Given the description of an element on the screen output the (x, y) to click on. 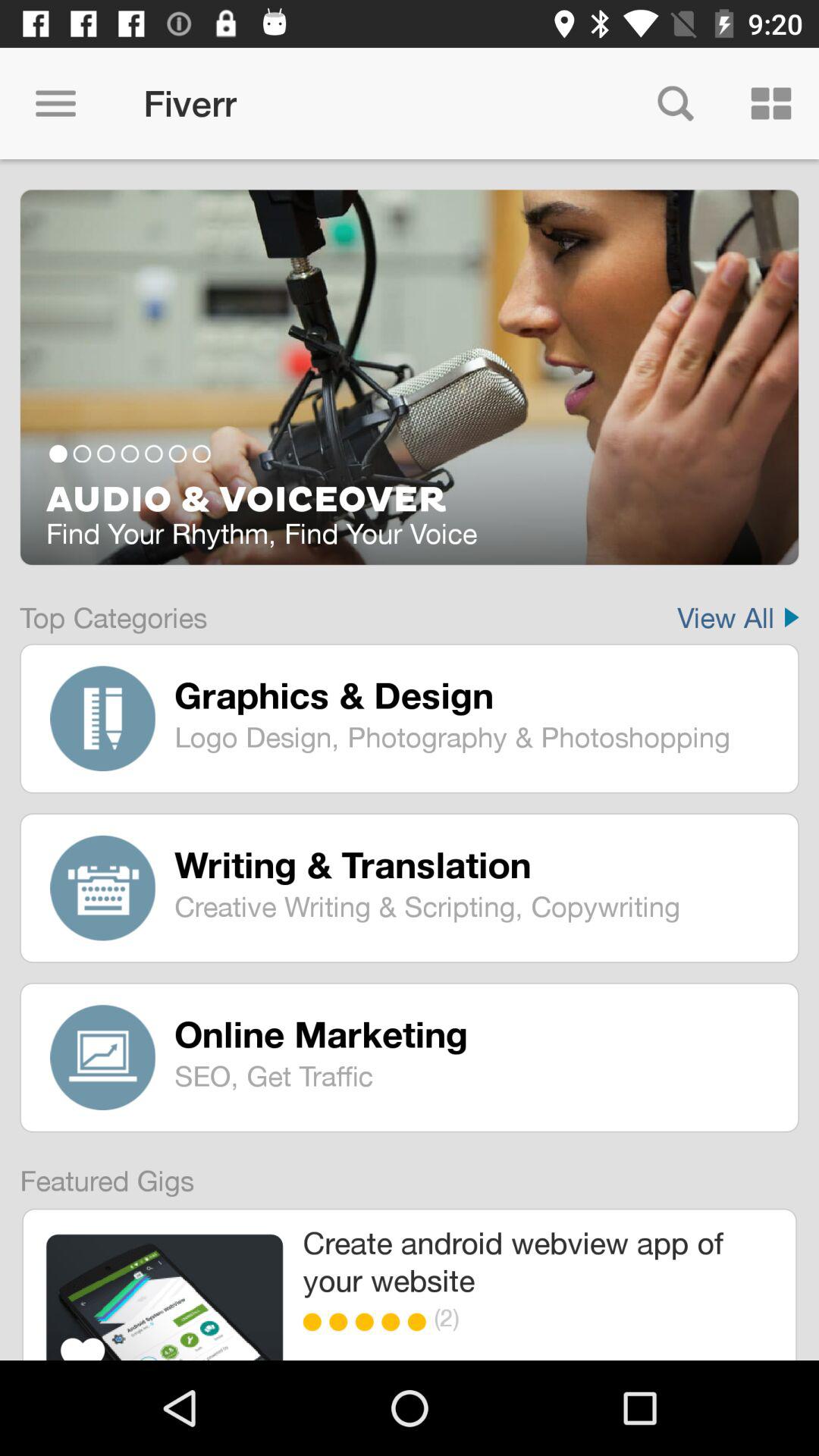
tap item next to top categories item (738, 607)
